Given the description of an element on the screen output the (x, y) to click on. 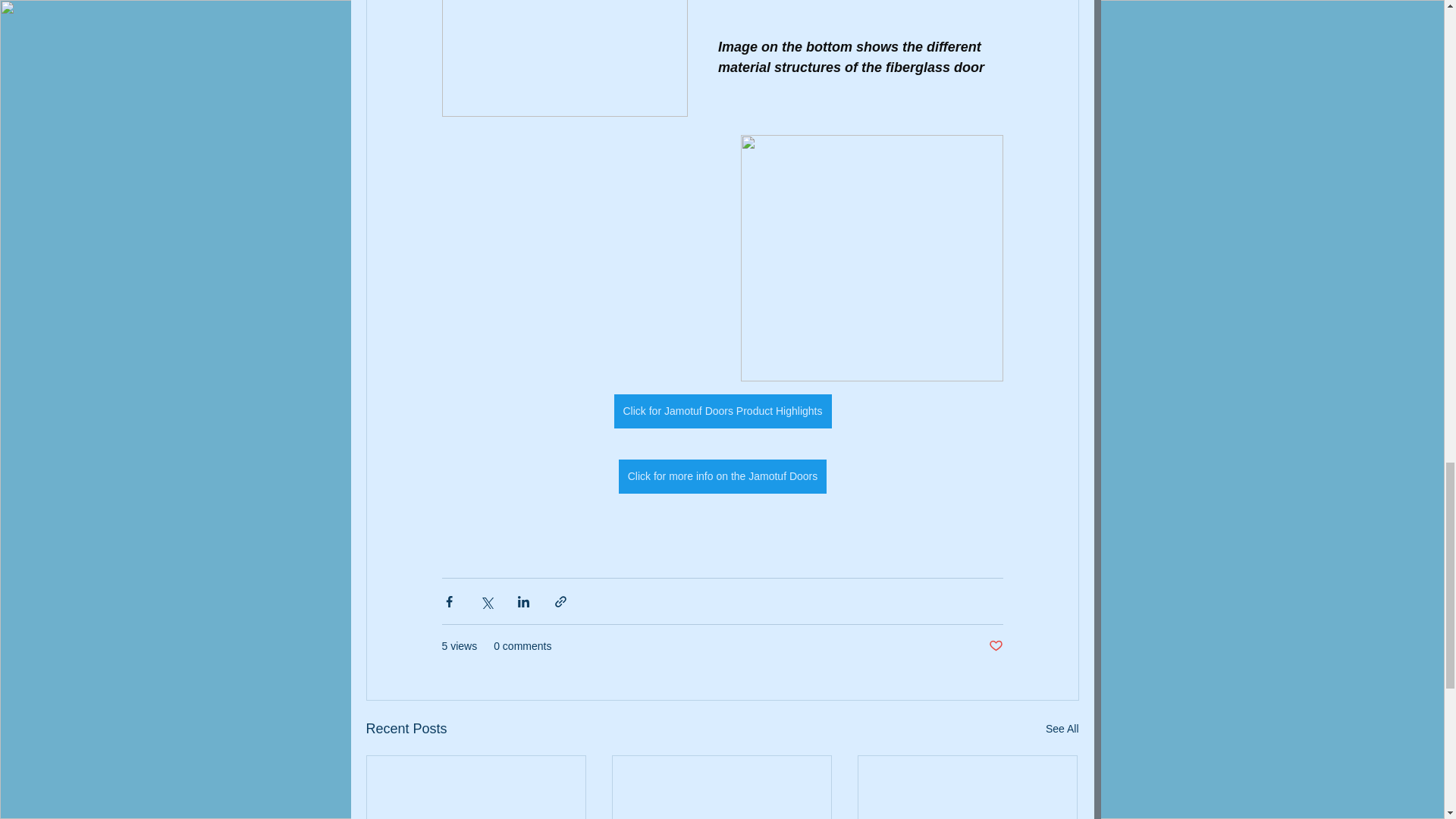
Post not marked as liked (995, 646)
Click for more info on the Jamotuf Doors (722, 476)
Click for Jamotuf Doors Product Highlights (721, 410)
See All (1061, 729)
